Given the description of an element on the screen output the (x, y) to click on. 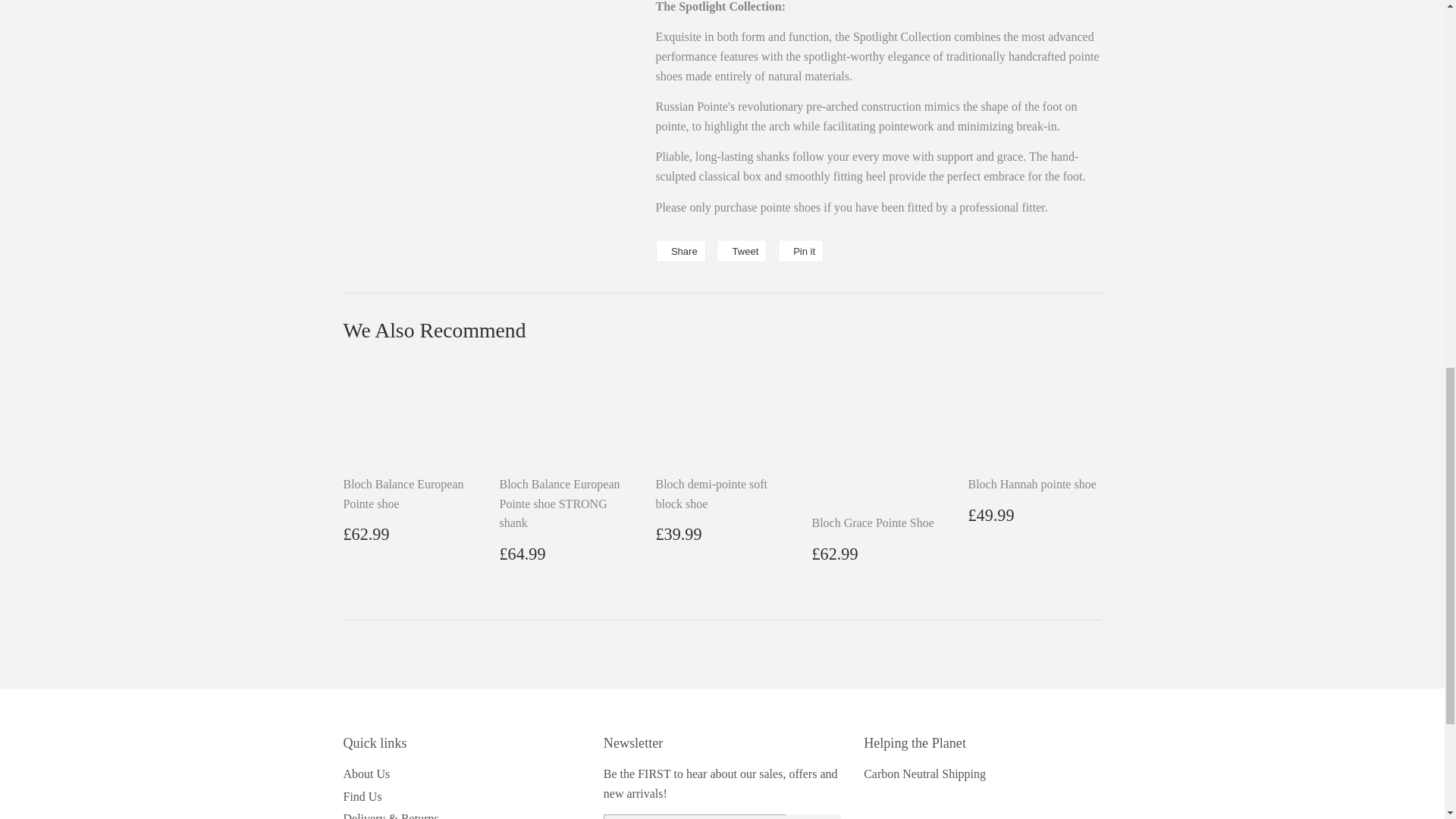
Share on Facebook (679, 250)
Tweet on Twitter (741, 250)
Pin on Pinterest (800, 250)
